Given the description of an element on the screen output the (x, y) to click on. 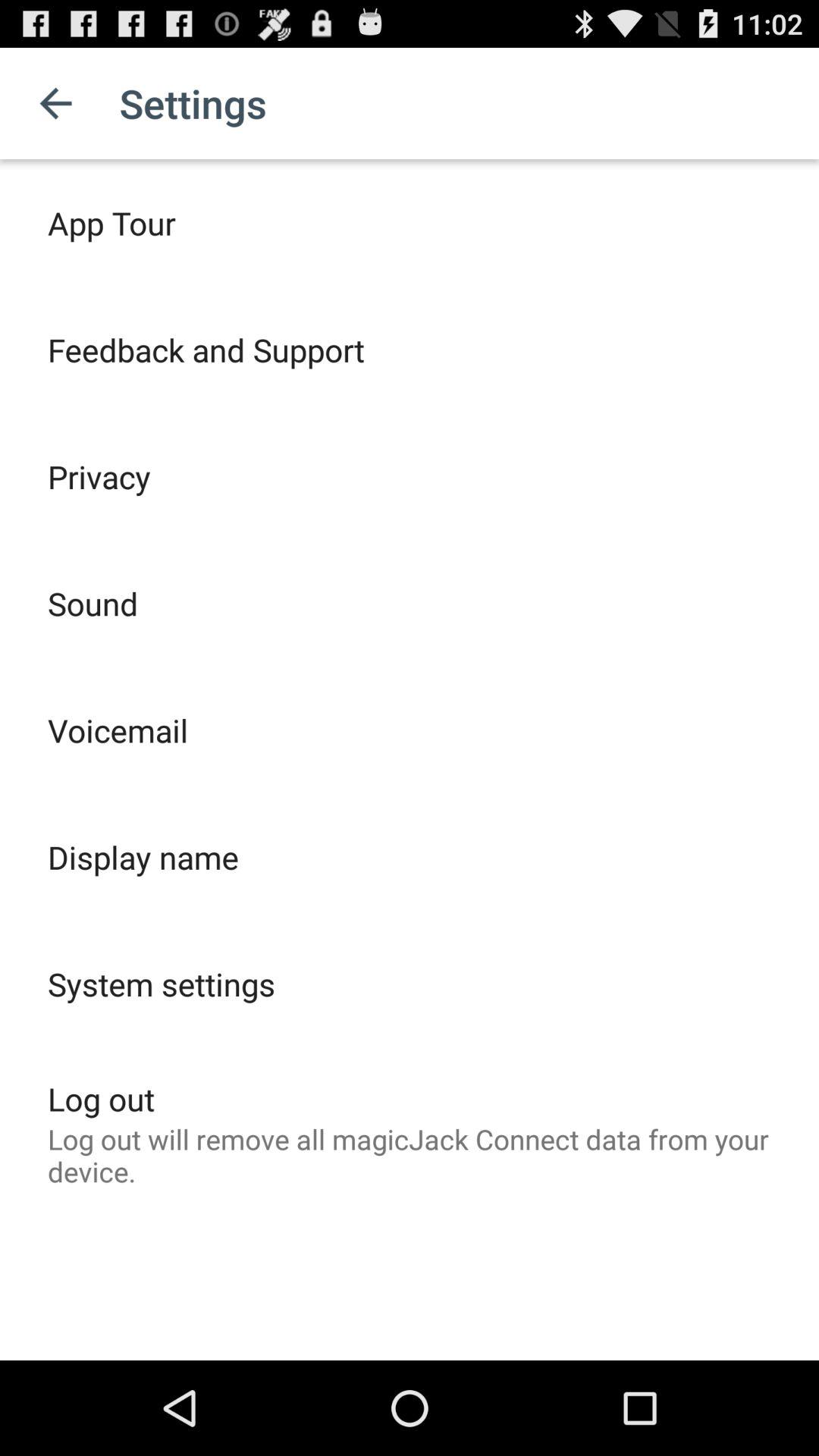
turn on the app above the sound (98, 476)
